Given the description of an element on the screen output the (x, y) to click on. 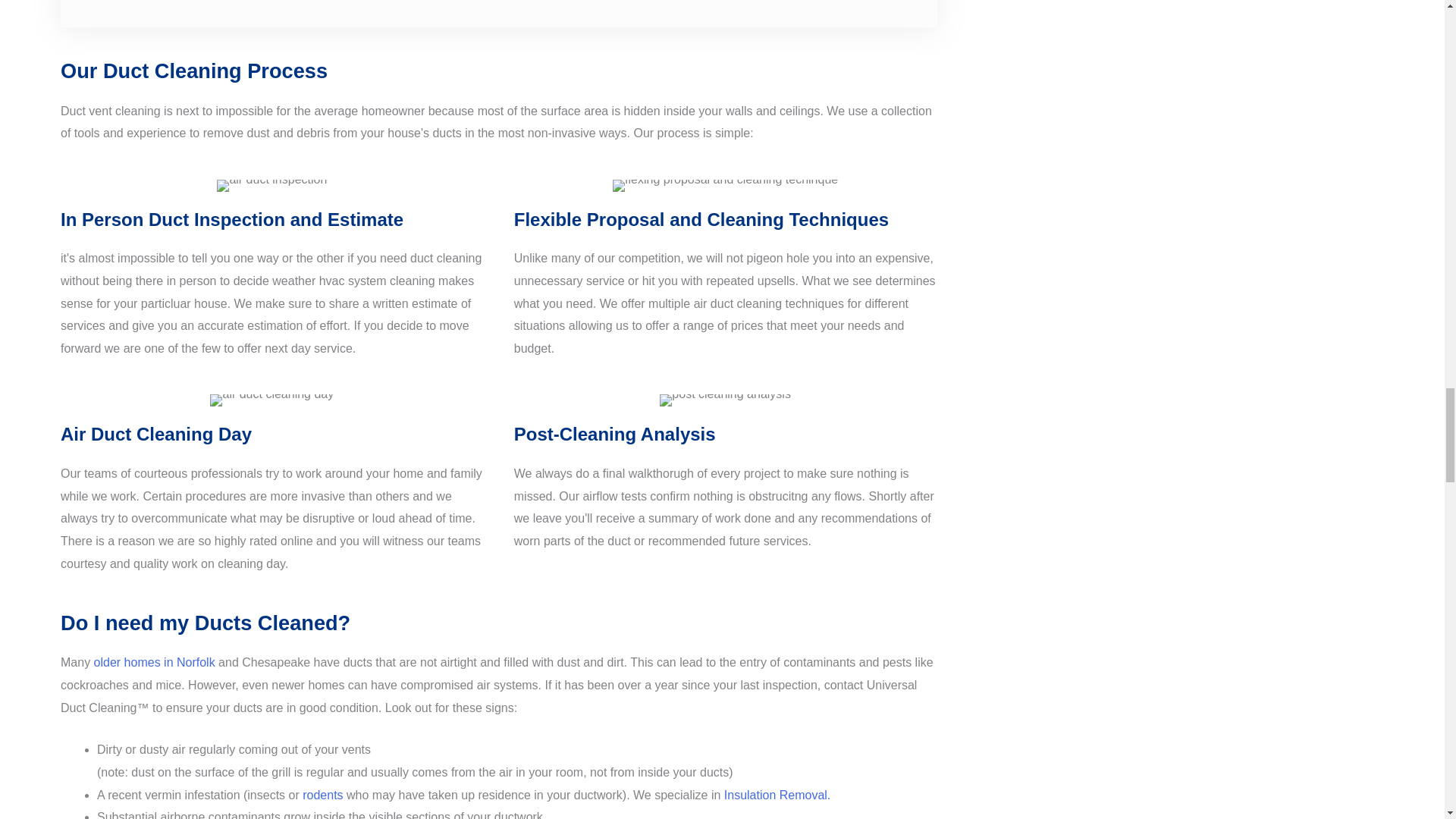
post cleaning analysis (724, 399)
flexing proposal and cleaning techinque (725, 185)
air duct cleaning day (271, 399)
air duct inspection (271, 185)
